Given the description of an element on the screen output the (x, y) to click on. 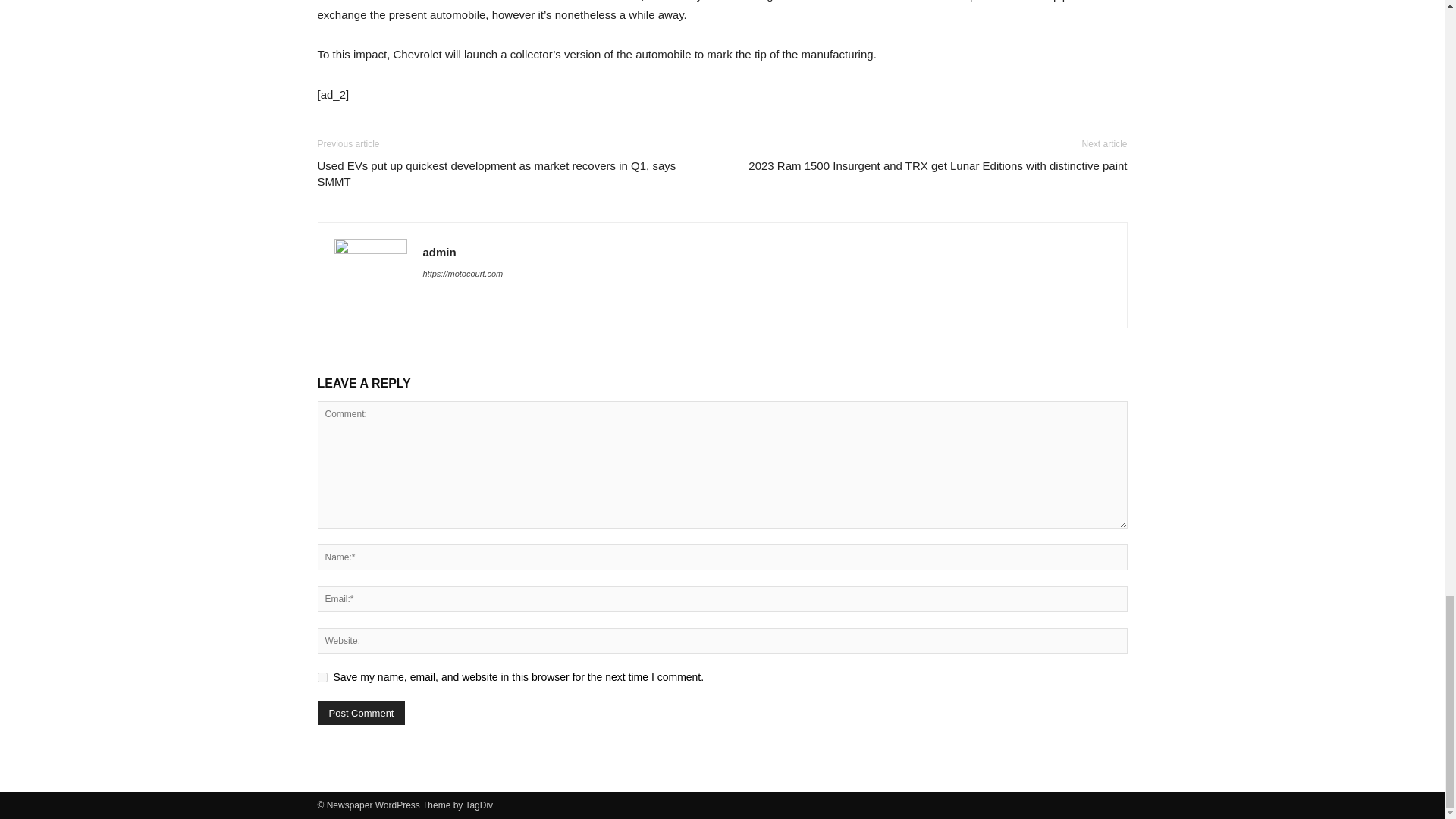
Post Comment (360, 712)
yes (321, 677)
Post Comment (360, 712)
admin (440, 251)
